Given the description of an element on the screen output the (x, y) to click on. 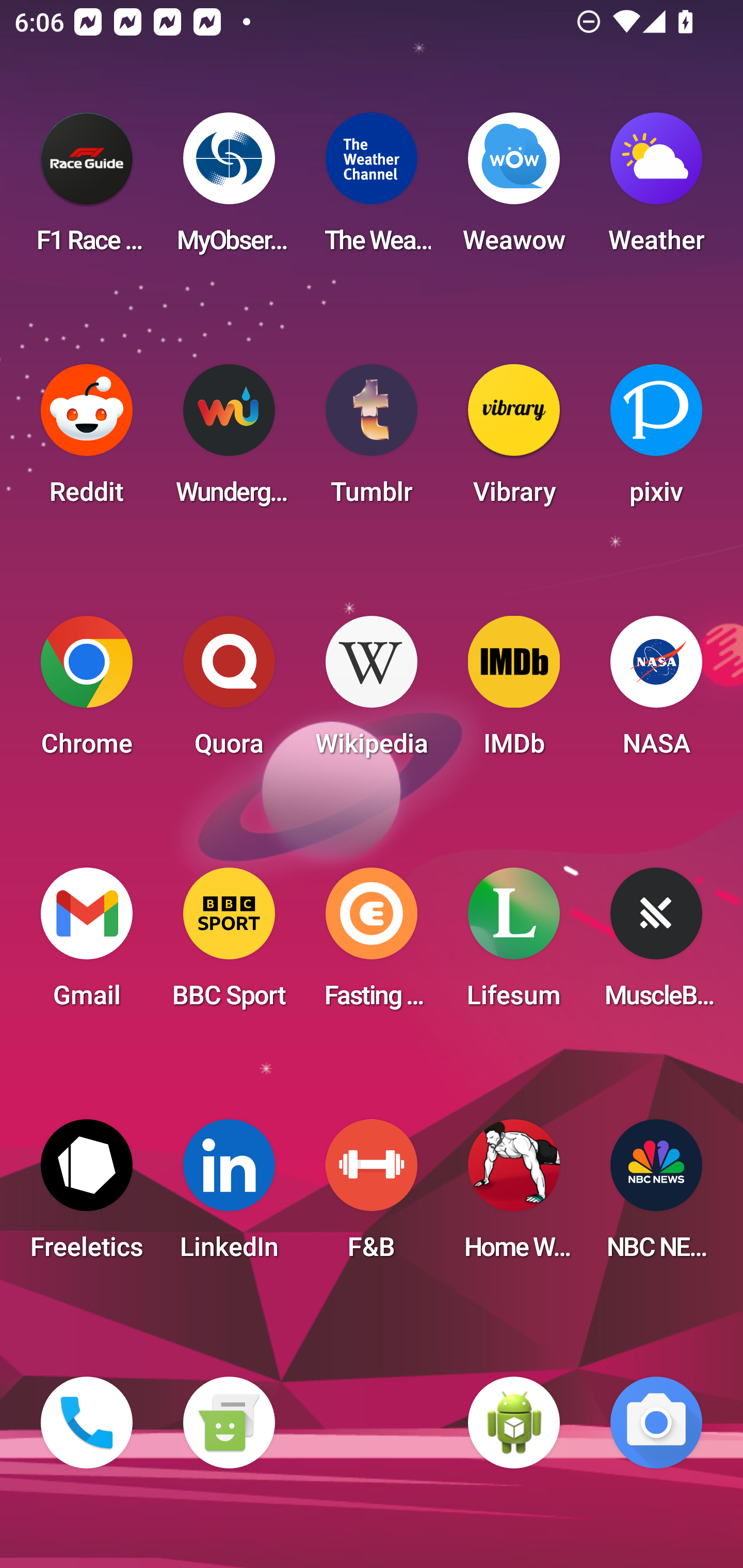
F1 Race Guide (86, 188)
MyObservatory (228, 188)
The Weather Channel (371, 188)
Weawow (513, 188)
Weather (656, 188)
Reddit (86, 440)
Wunderground (228, 440)
Tumblr (371, 440)
Vibrary (513, 440)
pixiv (656, 440)
Chrome (86, 692)
Quora (228, 692)
Wikipedia (371, 692)
IMDb (513, 692)
NASA (656, 692)
Gmail (86, 943)
BBC Sport (228, 943)
Fasting Coach (371, 943)
Lifesum (513, 943)
MuscleBooster (656, 943)
Freeletics (86, 1195)
LinkedIn (228, 1195)
F&B (371, 1195)
Home Workout (513, 1195)
NBC NEWS (656, 1195)
Phone (86, 1422)
Messaging (228, 1422)
WebView Browser Tester (513, 1422)
Camera (656, 1422)
